Given the description of an element on the screen output the (x, y) to click on. 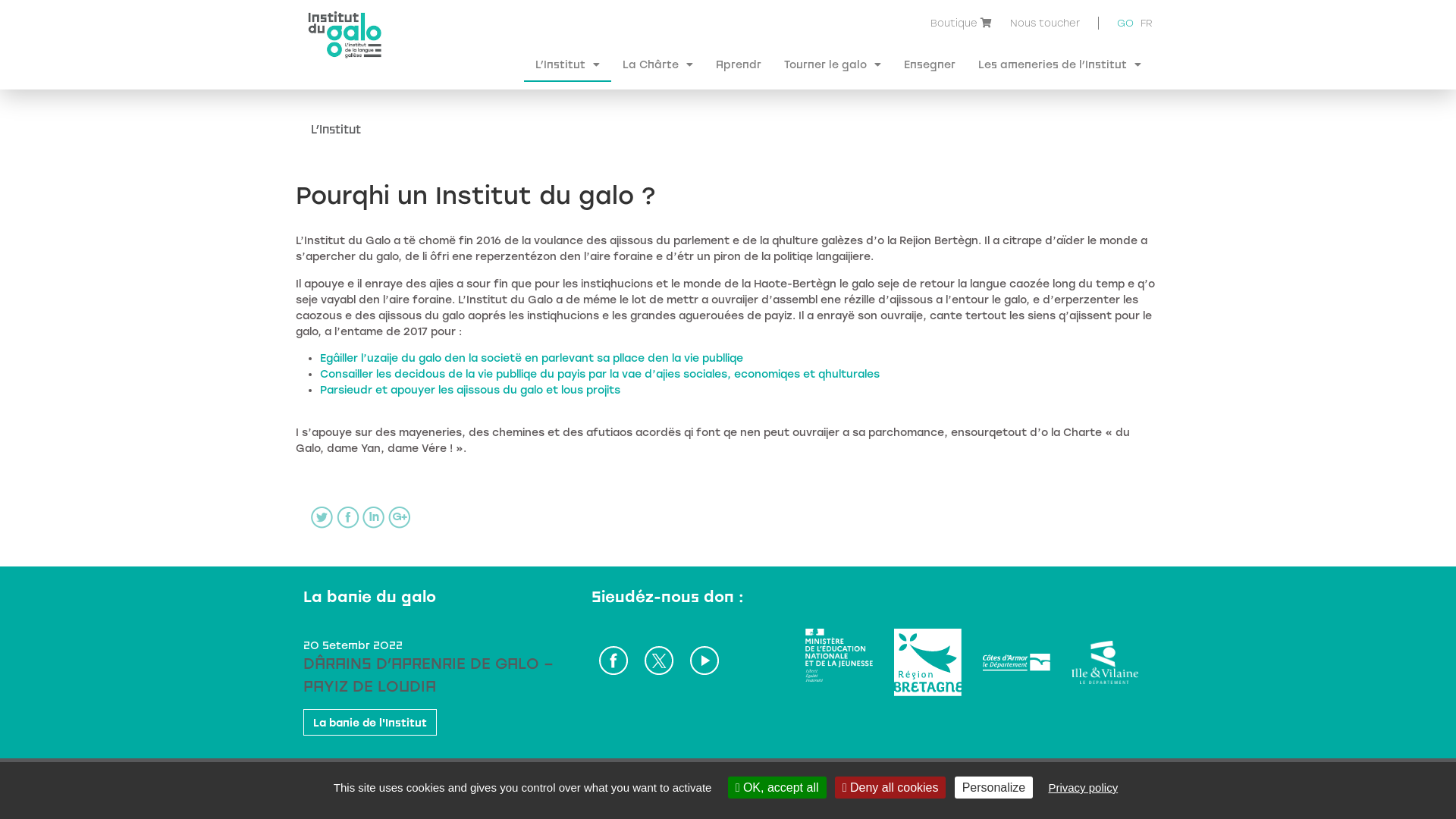
GO Element type: text (1125, 24)
La banie de l'Institut Element type: text (369, 722)
Tourner le galo Element type: text (832, 64)
Nous toucher Element type: text (1044, 22)
Aprendr Element type: text (738, 64)
OK, accept all Element type: text (777, 787)
Ensegner Element type: text (929, 64)
Personalize Element type: text (993, 787)
Boutique Element type: text (953, 22)
FR Element type: text (1146, 22)
Privacy policy Element type: text (1082, 787)
Deny all cookies Element type: text (890, 787)
